Given the description of an element on the screen output the (x, y) to click on. 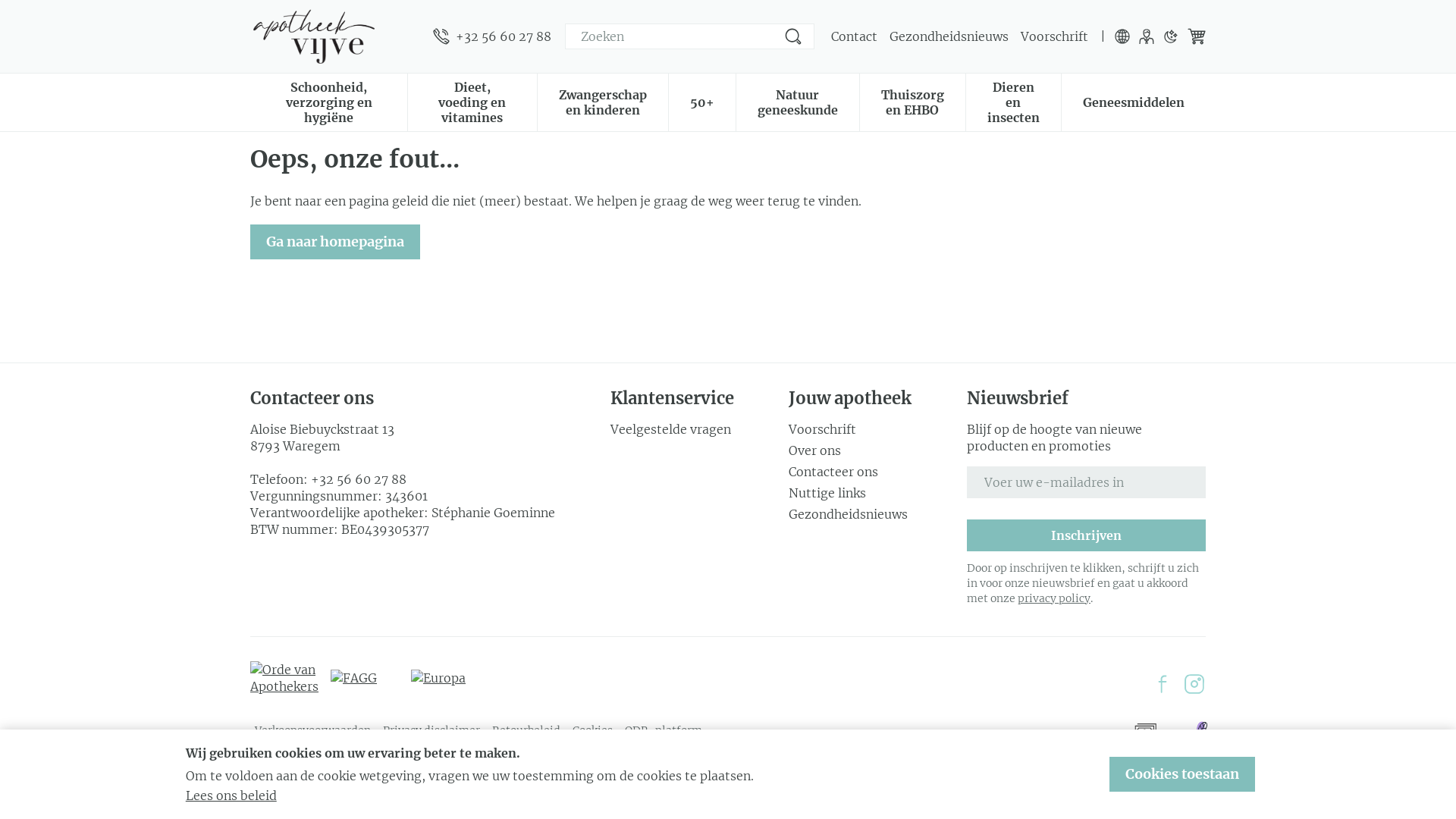
Veelgestelde vragen Element type: text (693, 428)
Nuttige links Element type: text (871, 492)
Ga naar homepagina Element type: text (335, 241)
Zoeken Element type: text (793, 36)
Geneesmiddelen Element type: text (1133, 100)
Gezondheidsnieuws Element type: text (948, 35)
Apotheek Vijve Element type: hover (335, 36)
Inschrijven Element type: text (1085, 535)
Natuur geneeskunde Element type: text (797, 100)
Apotheek Vijve Element type: hover (313, 36)
Voorschrift Element type: text (1054, 35)
Over ons Element type: text (871, 450)
Retourbeleid Element type: text (526, 729)
+32 56 60 27 88 Element type: text (358, 478)
Facebook Element type: hover (1162, 683)
Contact Element type: text (854, 35)
Cookies toestaan Element type: text (1182, 773)
Klant menu Element type: text (1146, 35)
Dieren en insecten Element type: text (1013, 100)
ODR-platform Element type: text (663, 729)
Verkoopsvoorwaarden Element type: text (312, 729)
Voorschrift Element type: text (871, 428)
Zwangerschap en kinderen Element type: text (602, 100)
Lees ons beleid Element type: text (230, 795)
Instagram Element type: hover (1194, 683)
+32 56 60 27 88 Element type: text (492, 36)
50+ Element type: text (701, 100)
Contacteer ons Element type: text (871, 471)
Thuiszorg en EHBO Element type: text (912, 100)
Donkere modus Element type: text (1170, 35)
Gezondheidsnieuws Element type: text (871, 513)
privacy policy Element type: text (1053, 598)
Winkelwagen Element type: text (1196, 36)
Cookies Element type: text (592, 729)
Privacy disclaimer Element type: text (431, 729)
Dieet, voeding en vitamines Element type: text (471, 100)
Talen Element type: text (1121, 35)
